Given the description of an element on the screen output the (x, y) to click on. 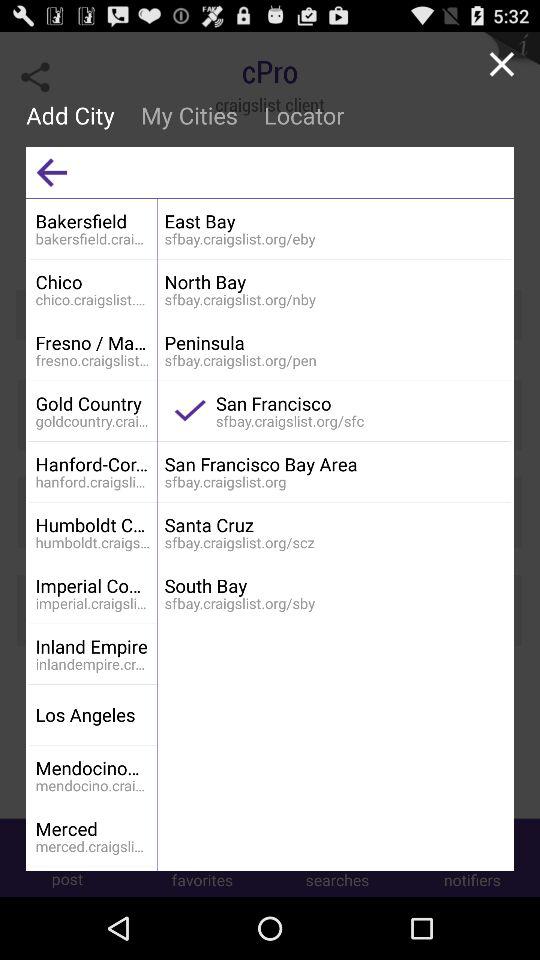
select the item next to the my cities item (51, 172)
